Given the description of an element on the screen output the (x, y) to click on. 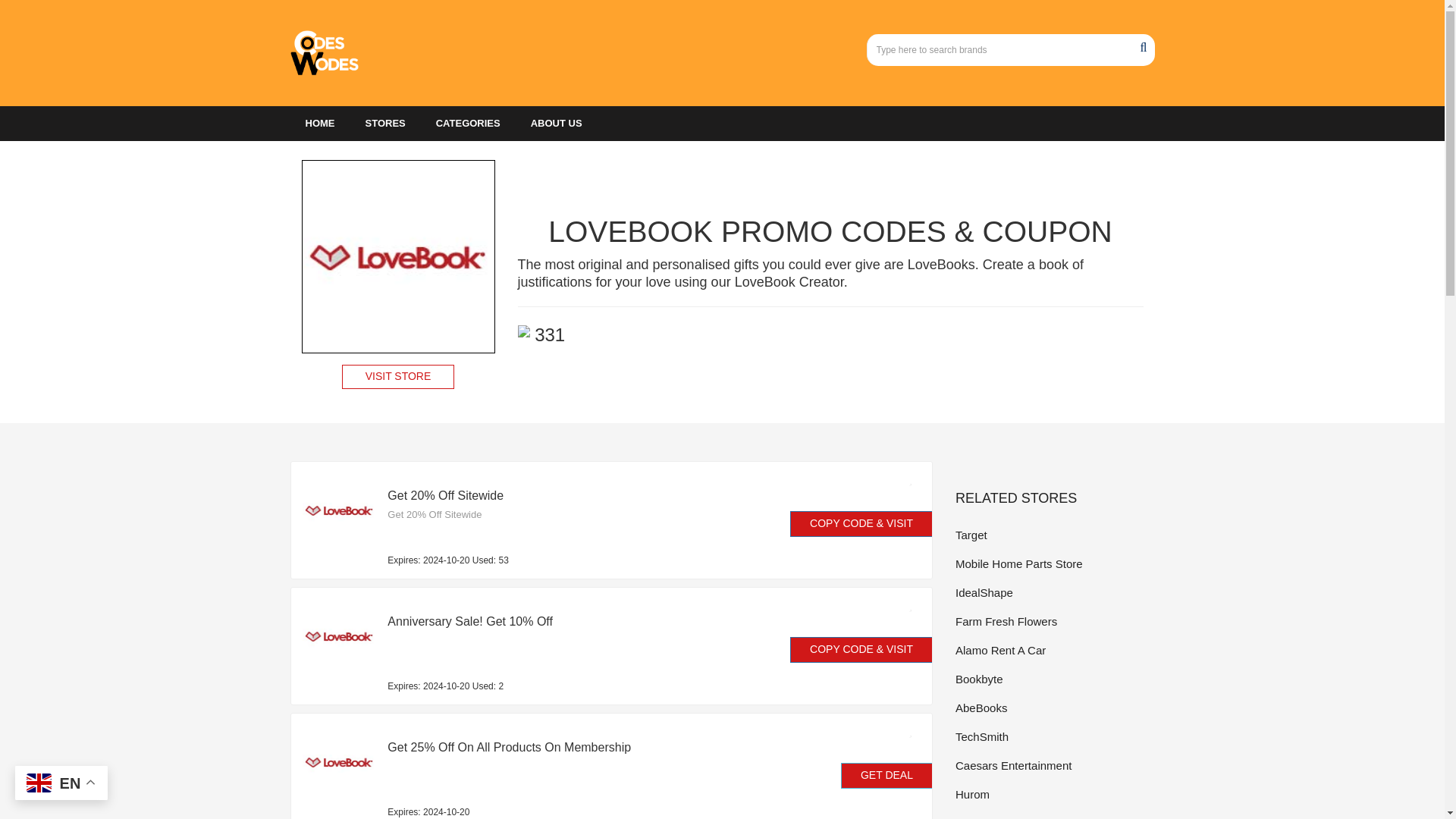
Target (1054, 534)
Farm Fresh Flowers (1054, 620)
TechSmith (1054, 736)
CATEGORIES (467, 123)
Bookbyte (1054, 678)
Hurom (1054, 793)
AbeBooks (1054, 707)
Alamo Rent A Car (1054, 650)
Caesars Entertainment (1054, 764)
Hotwire (1054, 816)
